Given the description of an element on the screen output the (x, y) to click on. 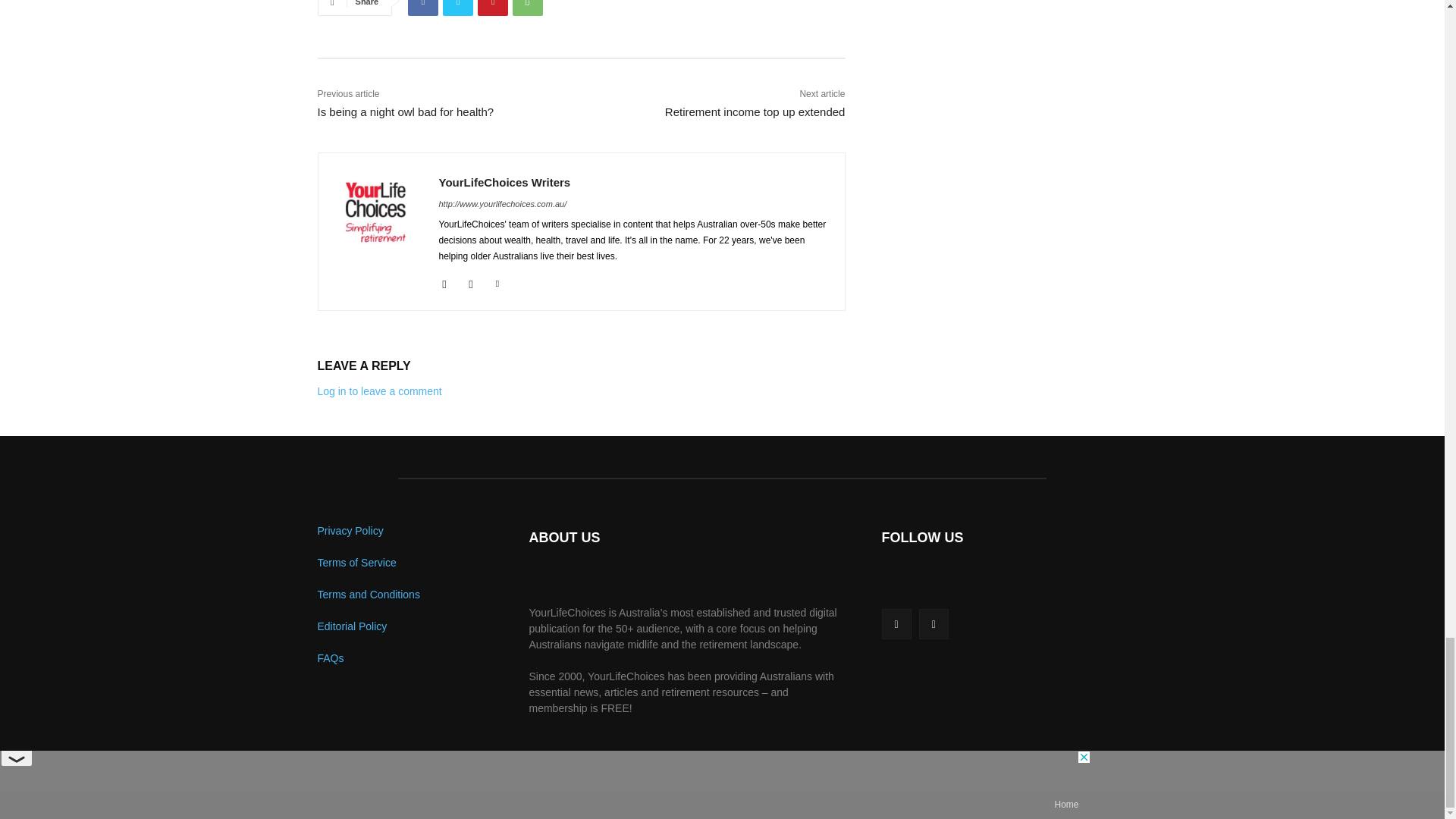
Pinterest (492, 7)
Facebook (422, 7)
Twitter (457, 7)
WhatsApp (527, 7)
